Given the description of an element on the screen output the (x, y) to click on. 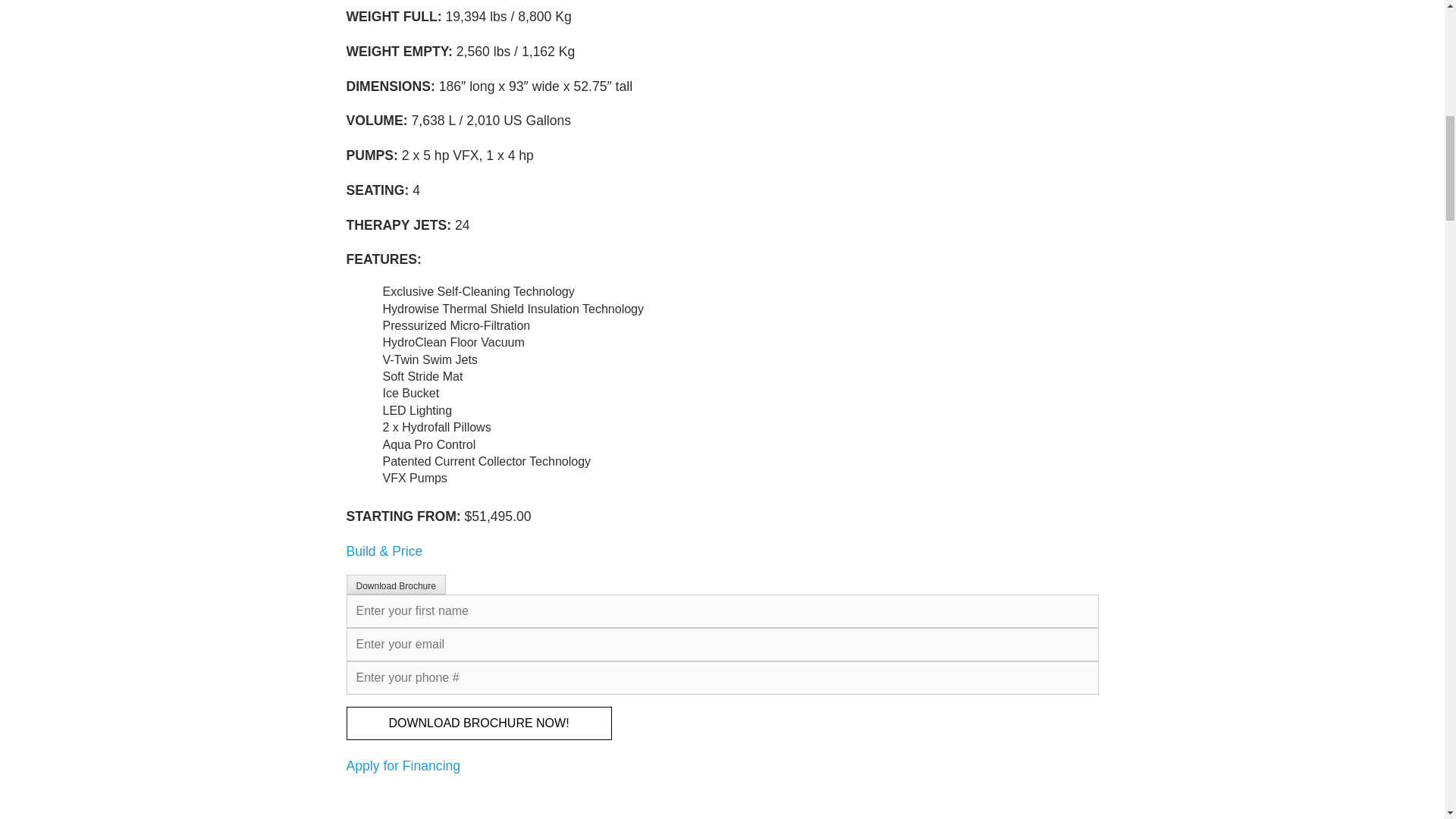
Download Brochure (395, 584)
DOWNLOAD BROCHURE NOW! (478, 723)
Apply for Financing (403, 765)
